Given the description of an element on the screen output the (x, y) to click on. 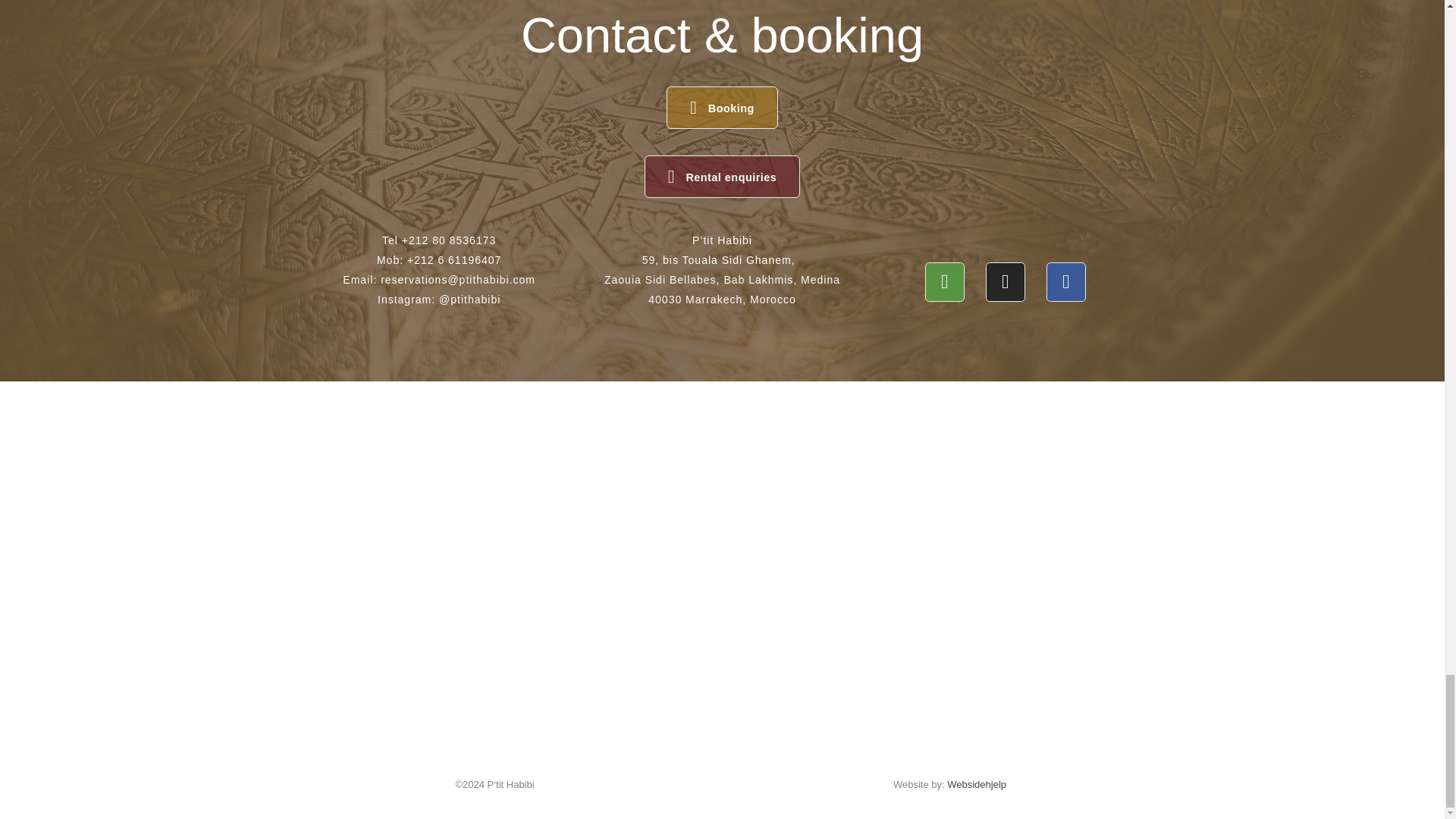
Booking (721, 107)
Facebook (1066, 282)
Tripadvisor (943, 282)
Instagram (1005, 282)
Rental enquiries (722, 176)
Websidehjelp (976, 784)
